Given the description of an element on the screen output the (x, y) to click on. 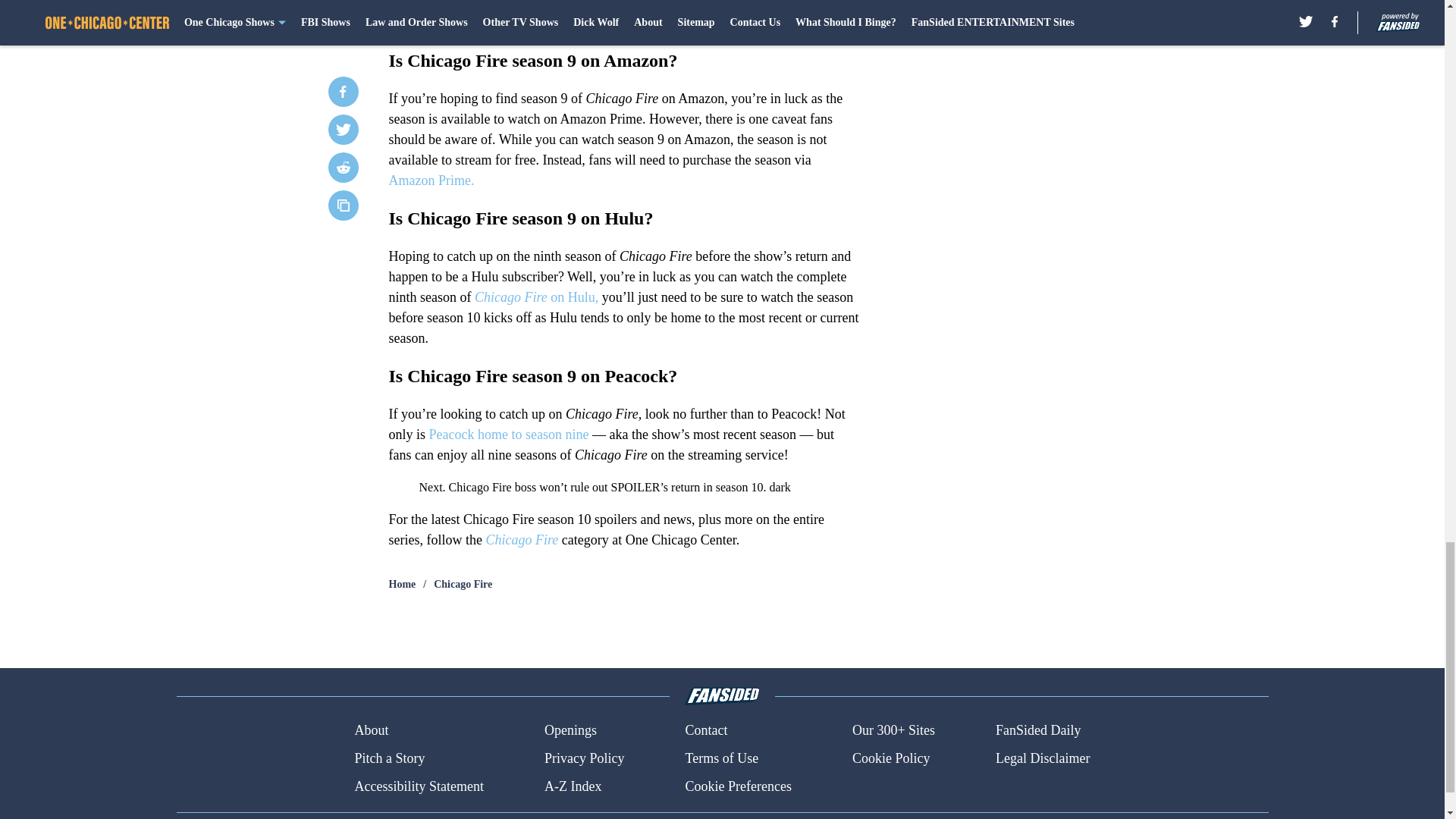
on Hulu, (574, 296)
Chicago Fire (462, 584)
About (370, 730)
Contact (705, 730)
Home (401, 584)
Chicago Fire (520, 539)
 Chicago Fire  (510, 296)
Openings (570, 730)
Peacock home to season nine (506, 434)
Amazon Prime. (431, 180)
